Given the description of an element on the screen output the (x, y) to click on. 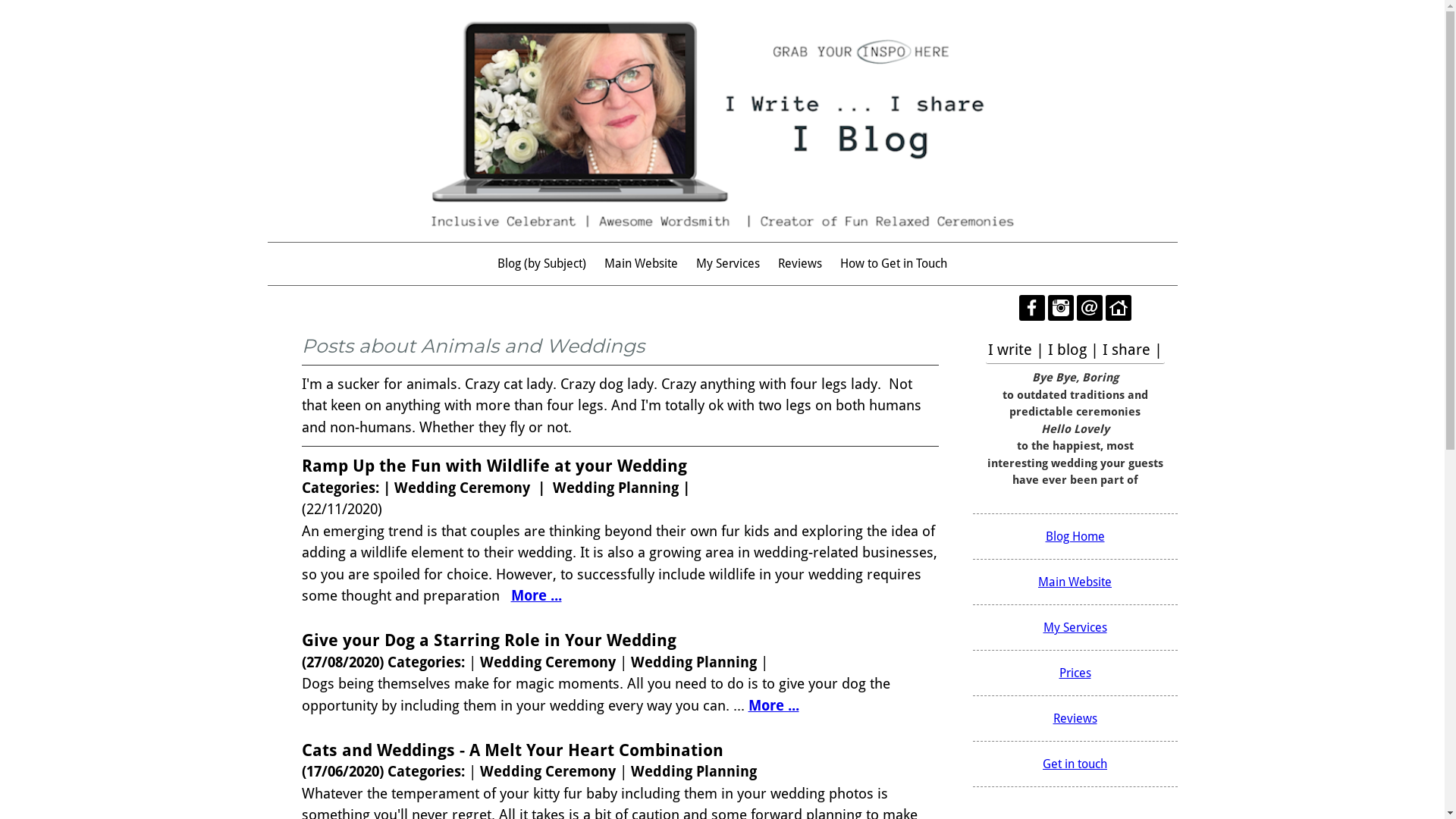
My Services Element type: text (1074, 627)
More ... Element type: text (772, 705)
How to Get in Touch Element type: text (893, 263)
Blog Home Element type: text (1074, 536)
Reviews Element type: text (799, 263)
Blog (by Subject) Element type: text (541, 263)
Main Website Element type: text (641, 263)
Main Website Element type: text (1074, 582)
Get in touch Element type: text (1074, 764)
Prices Element type: text (1074, 673)
Reviews Element type: text (1074, 718)
My Services Element type: text (727, 263)
More ... Element type: text (536, 595)
